Given the description of an element on the screen output the (x, y) to click on. 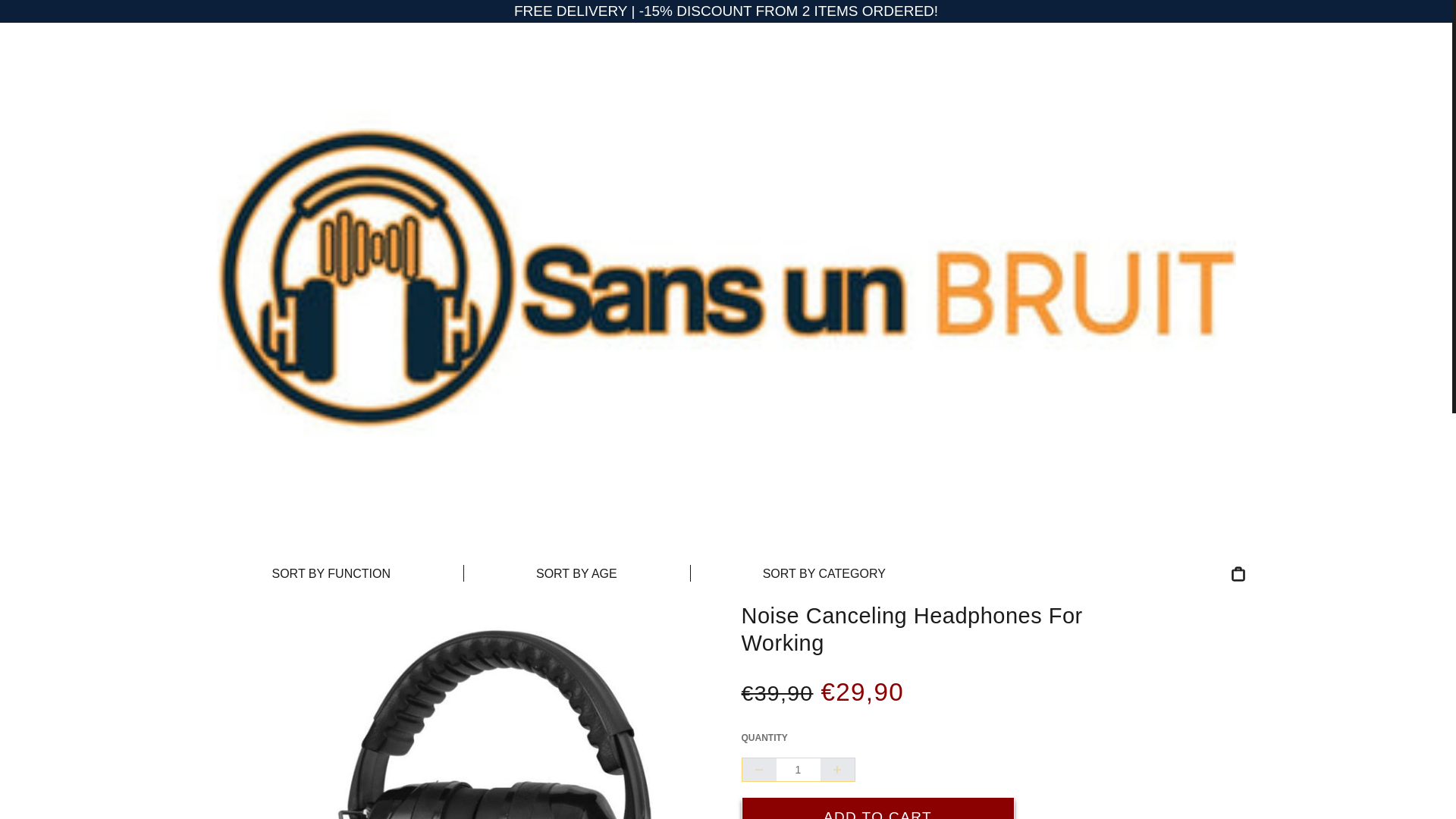
Collapse quantity of Noise Canceling Headphones For Working (758, 769)
SORT BY AGE (576, 573)
casque-anti-bruit-pour-travailler (503, 710)
SORT BY CATEGORY (824, 573)
1 (798, 769)
SORT BY FUNCTION (330, 573)
